Given the description of an element on the screen output the (x, y) to click on. 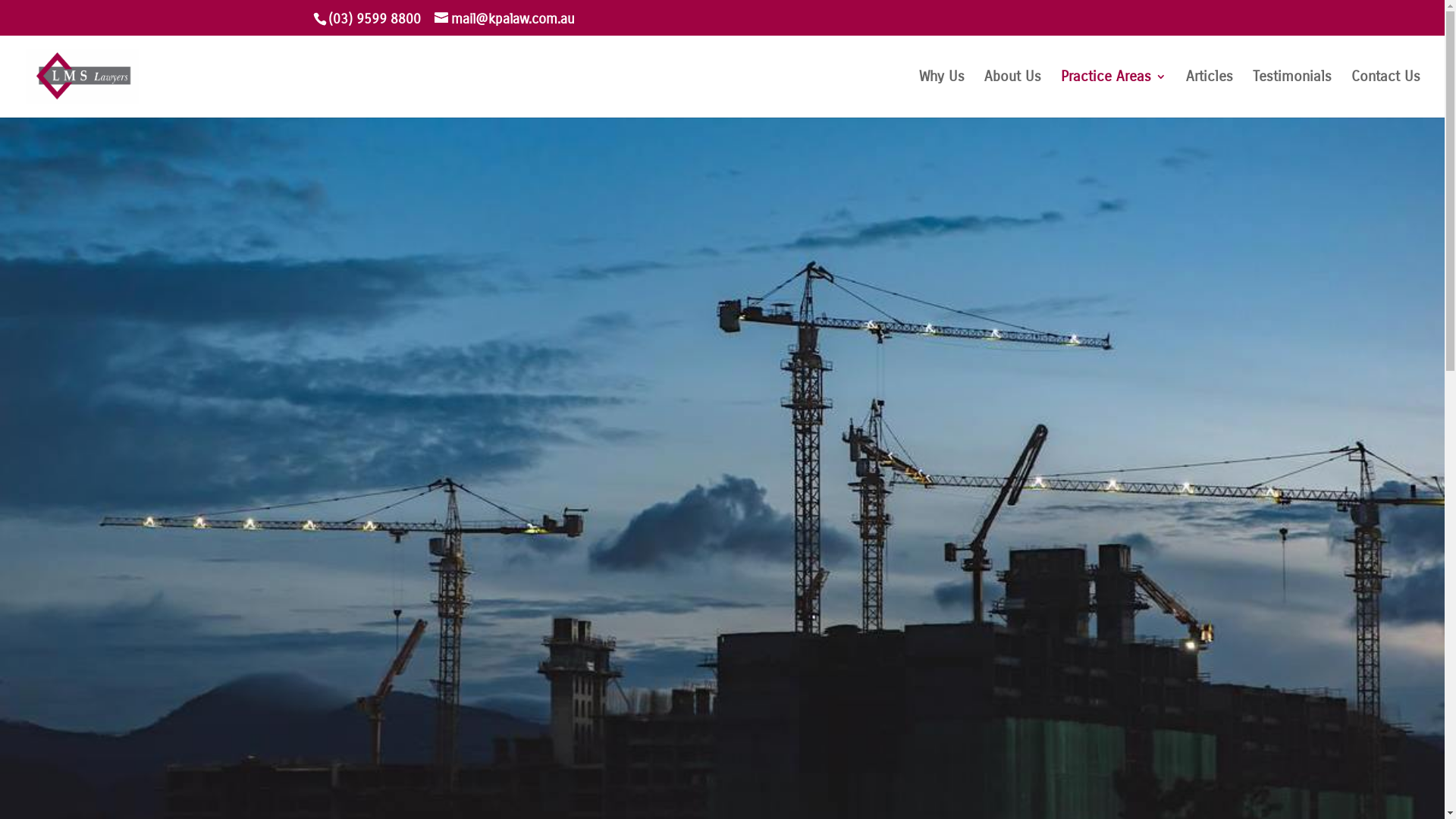
Testimonials Element type: text (1291, 94)
mail@kpalaw.com.au Element type: text (503, 18)
Practice Areas Element type: text (1113, 94)
Why Us Element type: text (941, 94)
Articles Element type: text (1209, 94)
About Us Element type: text (1012, 94)
Contact Us Element type: text (1385, 94)
